Given the description of an element on the screen output the (x, y) to click on. 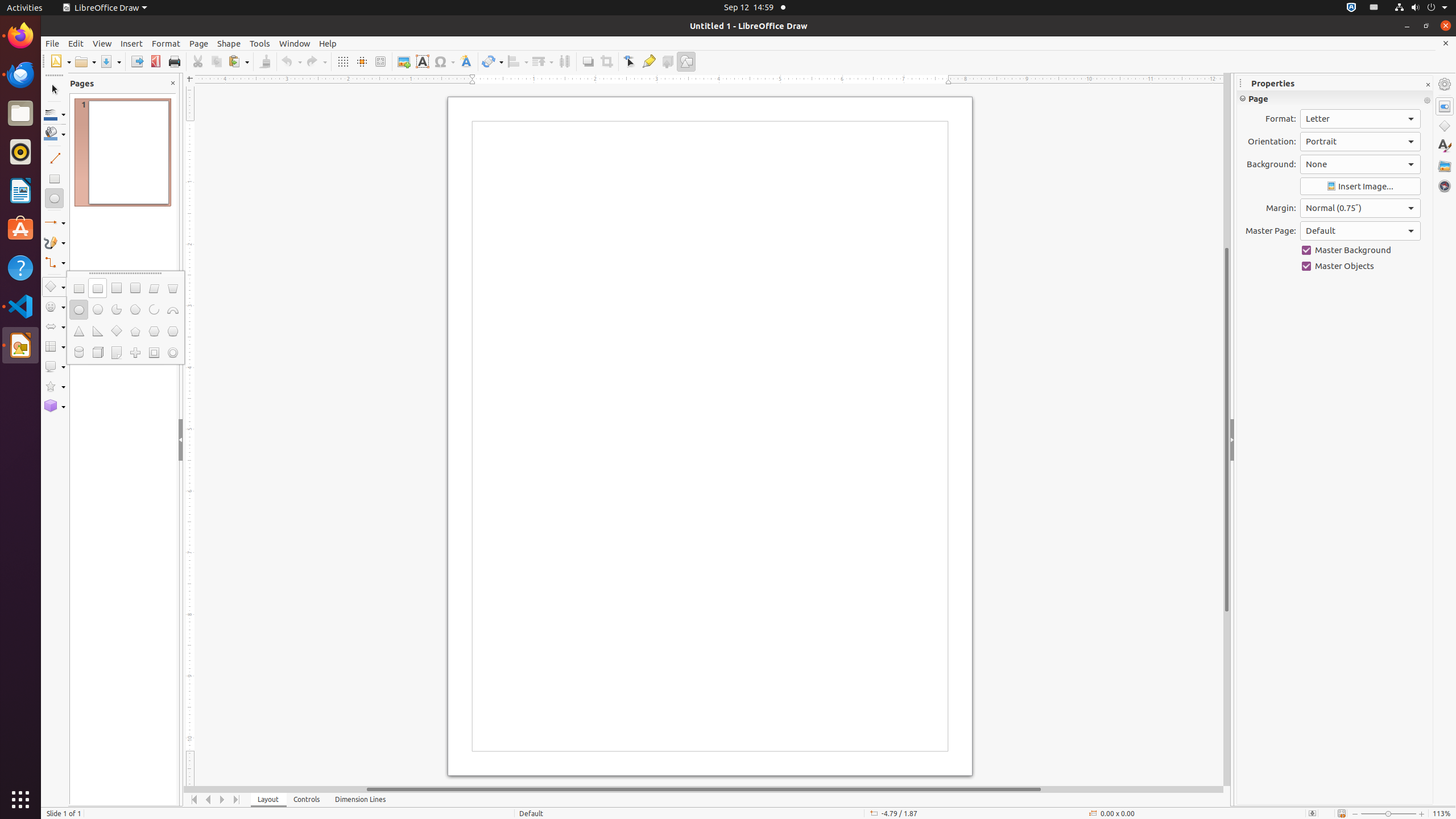
Rhythmbox Element type: push-button (20, 151)
File Element type: menu (51, 43)
View Element type: menu (102, 43)
Margin: Element type: combo-box (1360, 207)
